Given the description of an element on the screen output the (x, y) to click on. 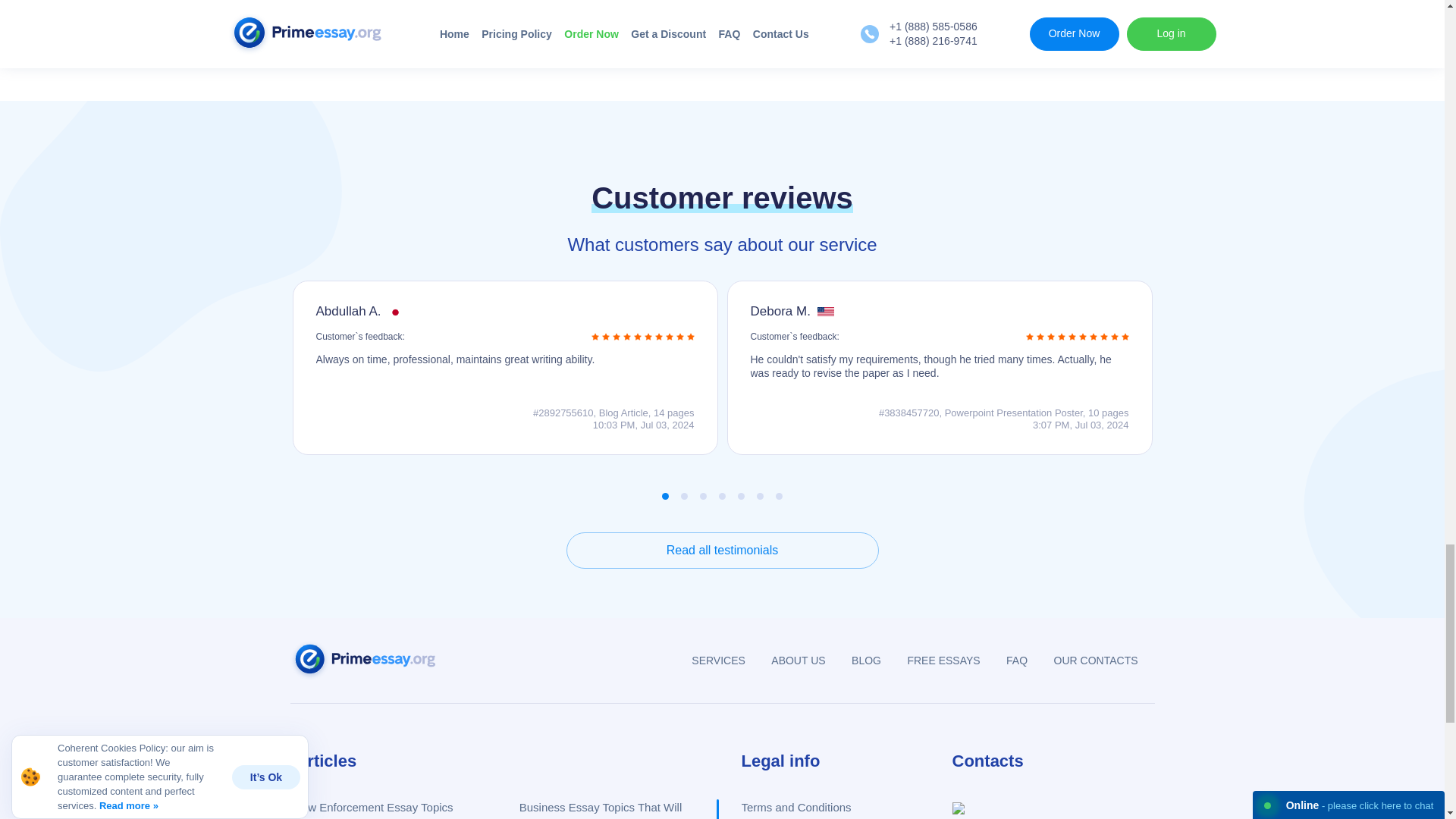
SERVICES (718, 660)
USA (825, 312)
Business Etiquette (367, 6)
Japan (395, 312)
Management Theory (372, 33)
Business Etiquette (367, 6)
Management Theory (372, 33)
